Given the description of an element on the screen output the (x, y) to click on. 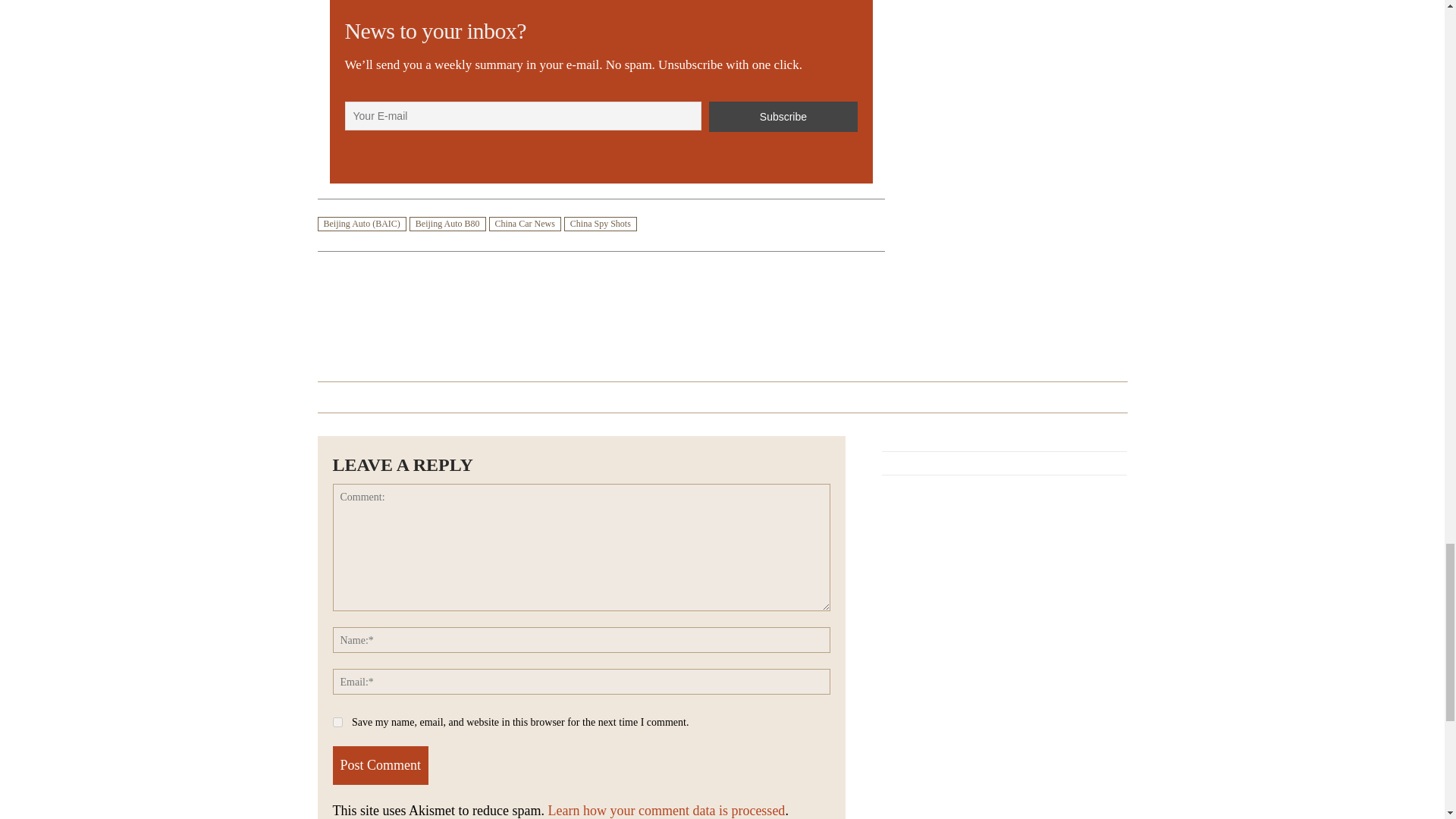
yes (336, 722)
Post Comment (379, 765)
Subscribe (783, 116)
